Given the description of an element on the screen output the (x, y) to click on. 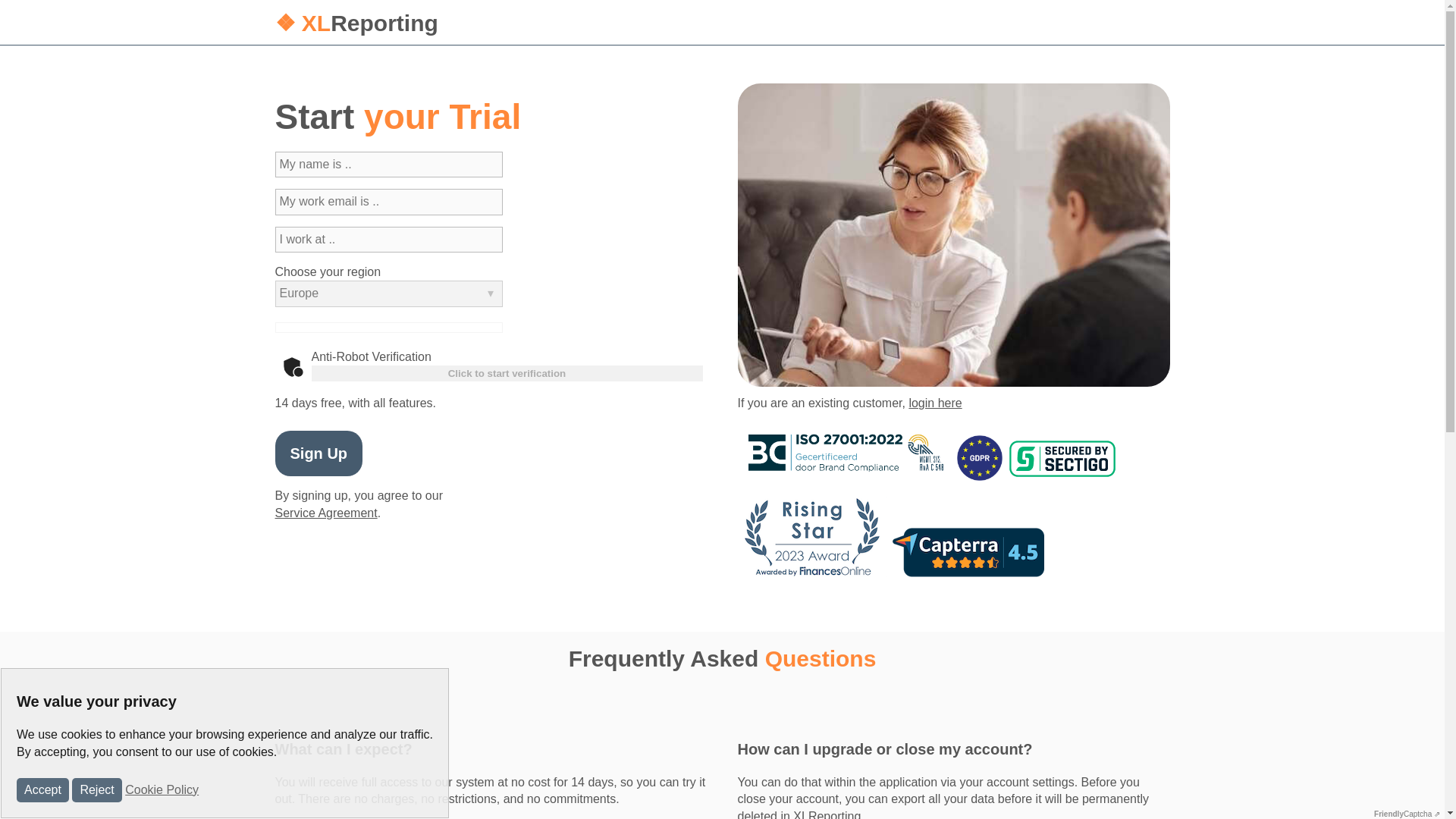
Service Agreement (326, 512)
Click to start verification (506, 373)
Cookie Policy (161, 789)
Sign Up (318, 452)
Accept (42, 790)
Reject (95, 790)
login here (934, 402)
